Given the description of an element on the screen output the (x, y) to click on. 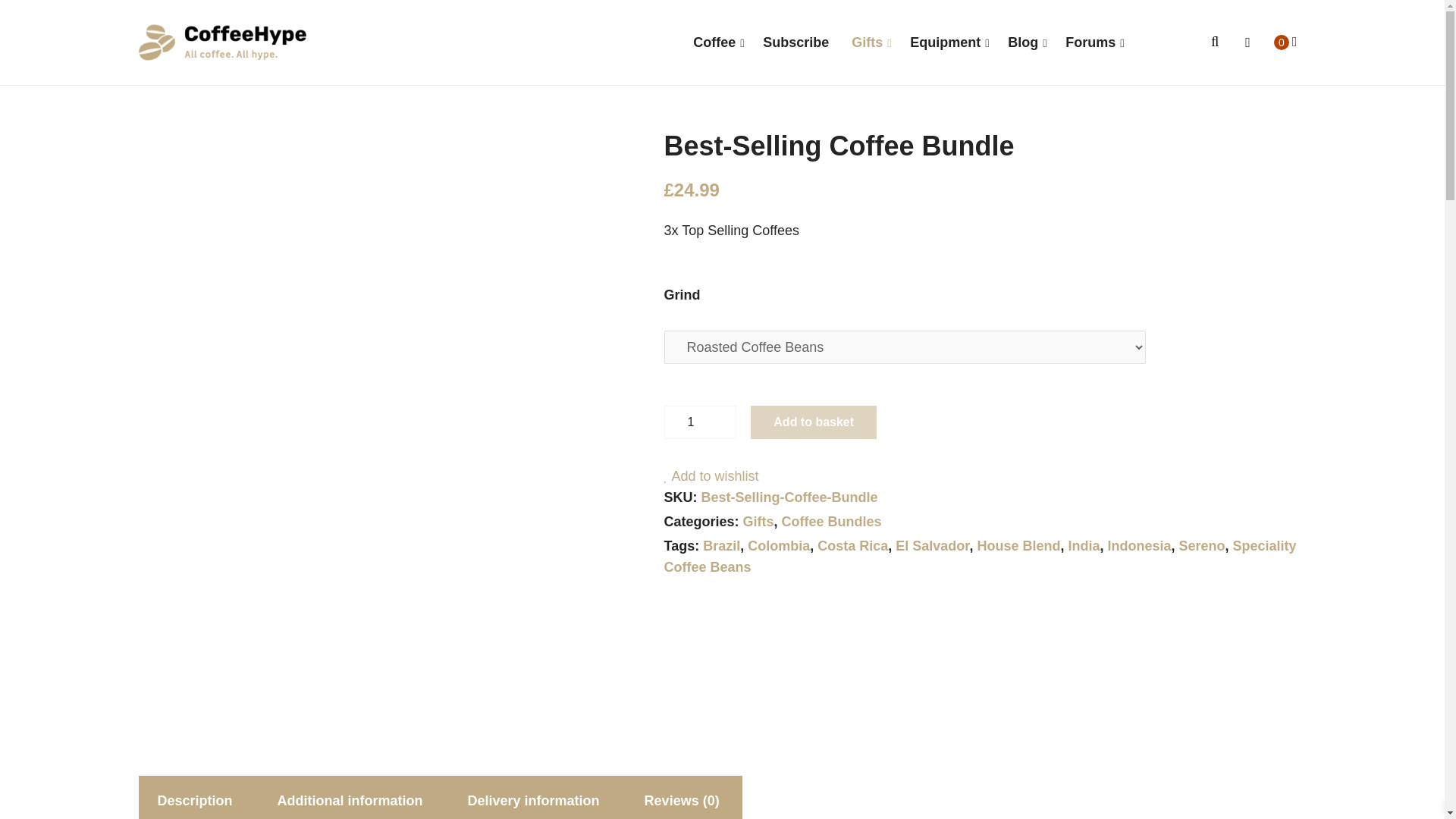
Forums (1090, 34)
Subscribe (795, 34)
Coffee (713, 34)
Equipment (944, 34)
Blog (1022, 34)
1 (699, 421)
Gifts (866, 34)
